Given the description of an element on the screen output the (x, y) to click on. 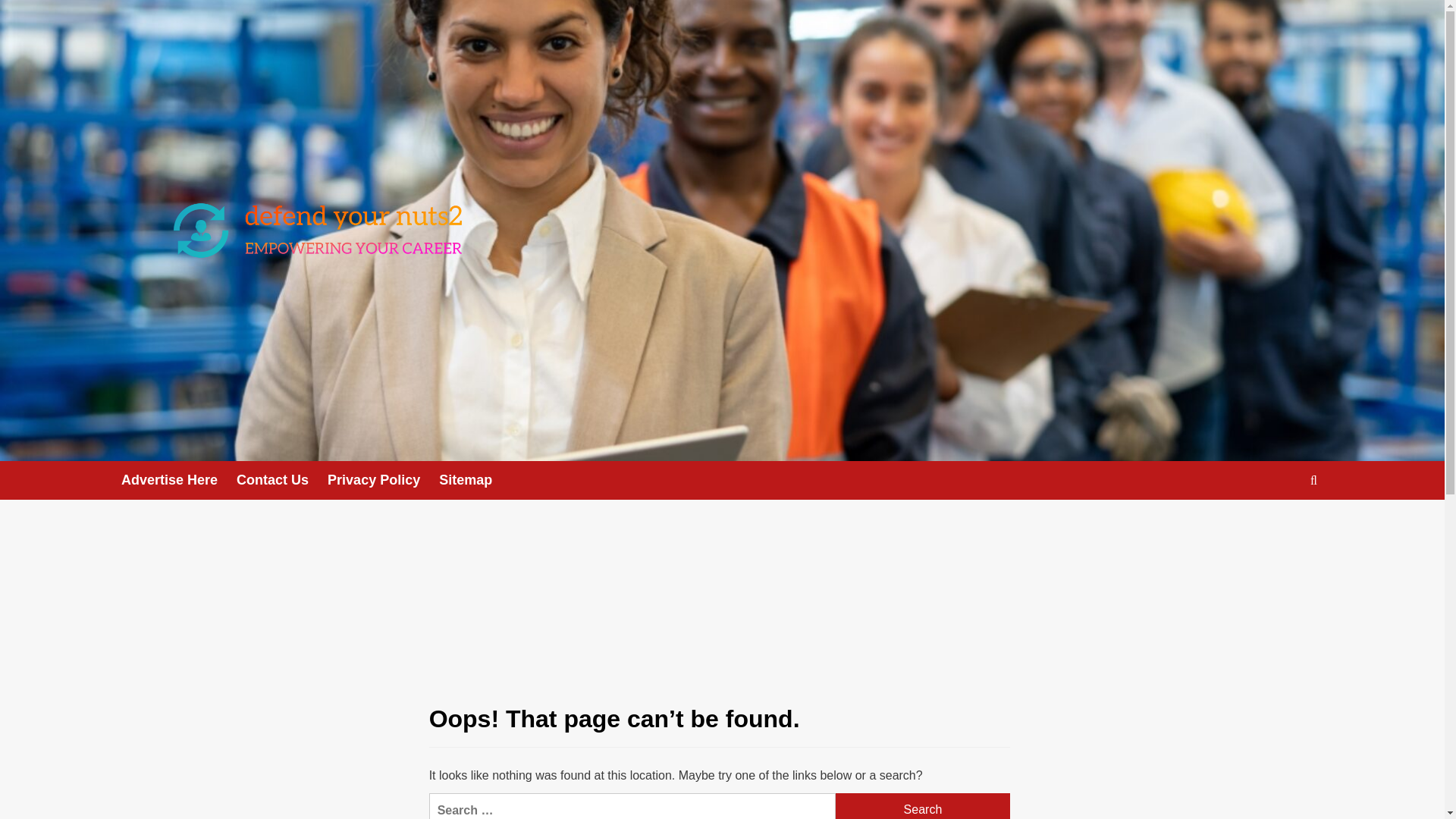
Search (922, 806)
Advertise Here (177, 480)
Search (922, 806)
Privacy Policy (383, 480)
Search (1313, 479)
Search (922, 806)
Search (1278, 527)
Contact Us (281, 480)
Sitemap (475, 480)
